Given the description of an element on the screen output the (x, y) to click on. 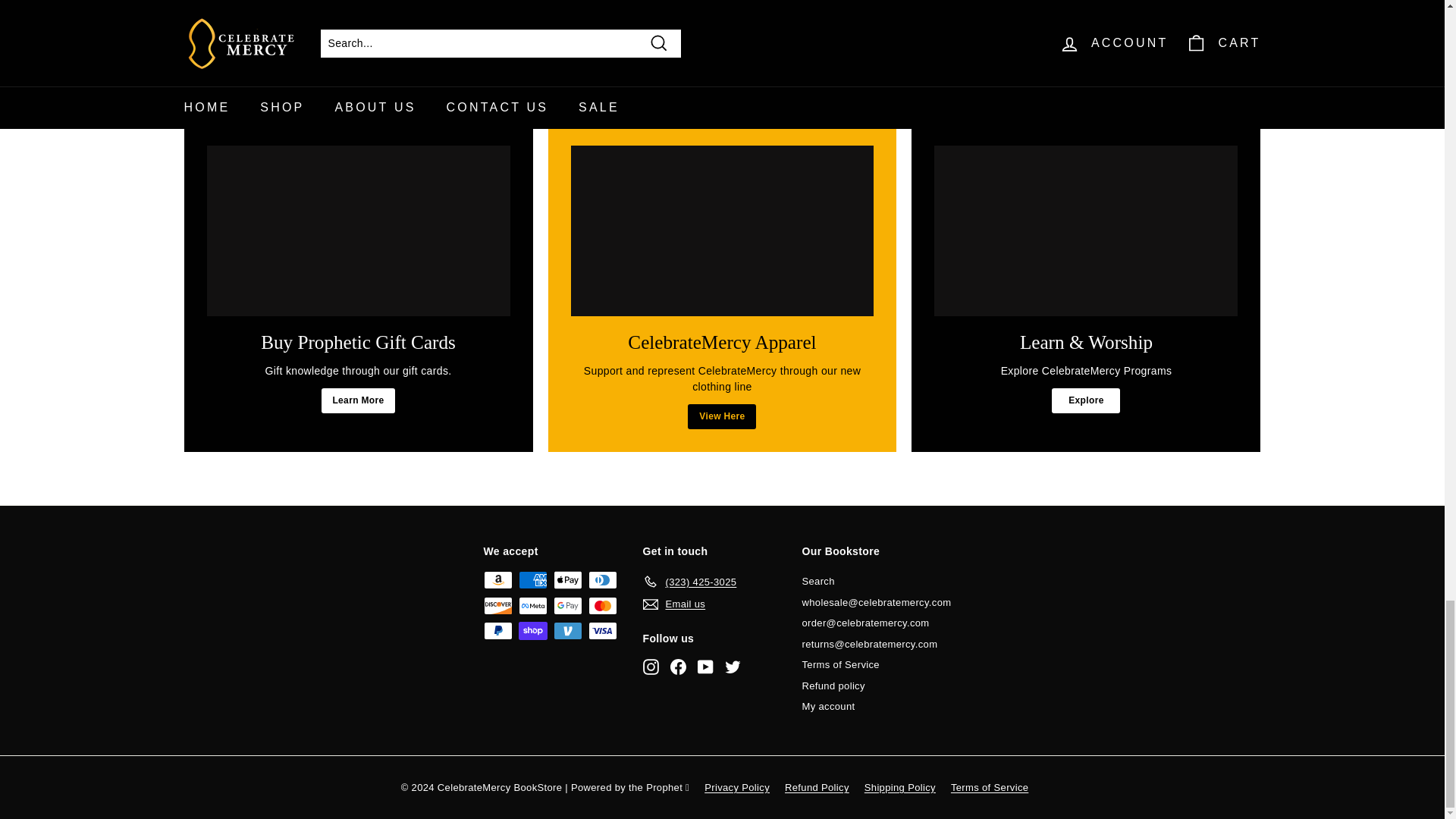
CelebrateMercy BookStore on YouTube (705, 666)
CelebrateMercy BookStore on Instagram (651, 666)
Amazon (497, 579)
Diners Club (602, 579)
Apple Pay (567, 579)
CelebrateMercy BookStore on Facebook (677, 666)
CelebrateMercy BookStore on Twitter (733, 666)
American Express (532, 579)
